Given the description of an element on the screen output the (x, y) to click on. 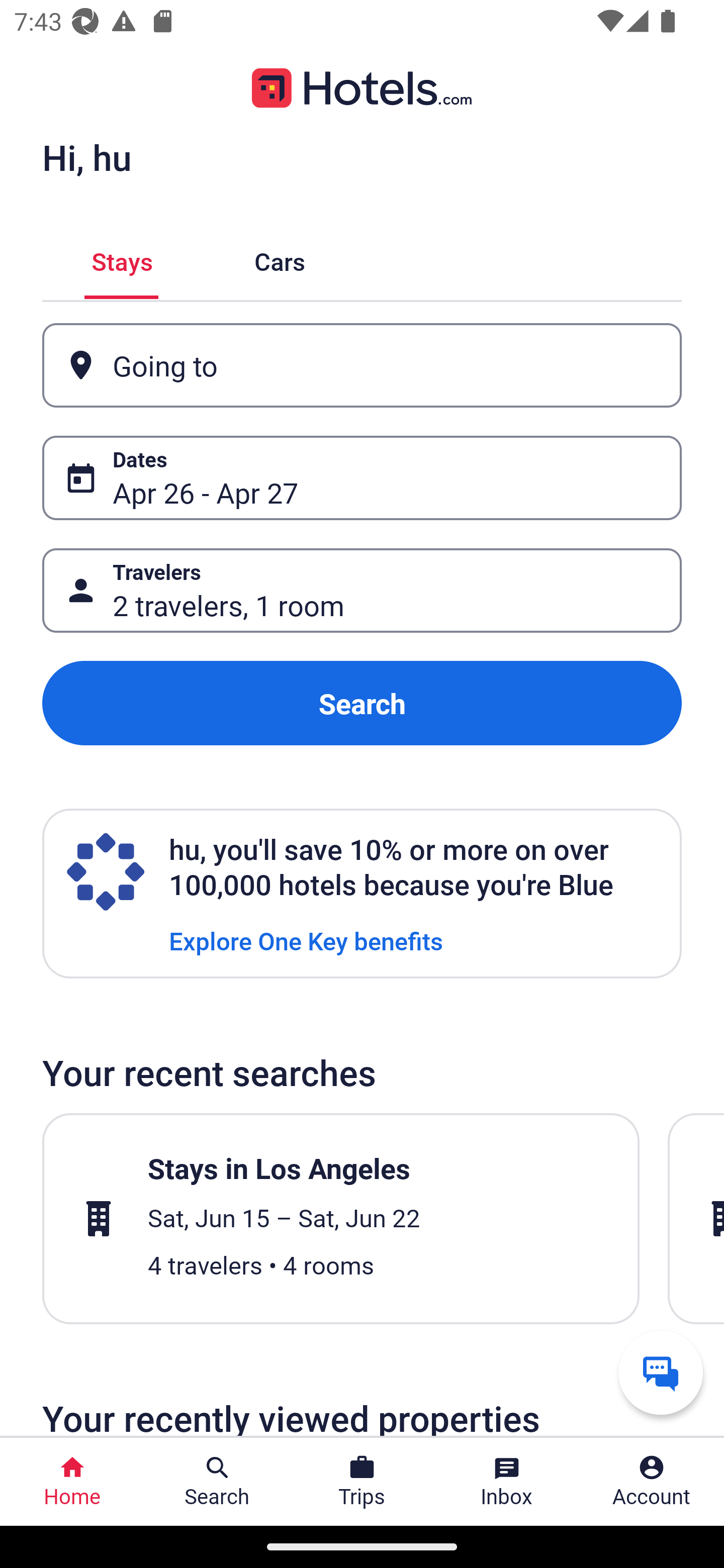
Hi, hu (86, 156)
Cars (279, 259)
Going to Button (361, 365)
Dates Button Apr 26 - Apr 27 (361, 477)
Travelers Button 2 travelers, 1 room (361, 590)
Search (361, 702)
Get help from a virtual agent (660, 1371)
Search Search Button (216, 1481)
Trips Trips Button (361, 1481)
Inbox Inbox Button (506, 1481)
Account Profile. Button (651, 1481)
